Given the description of an element on the screen output the (x, y) to click on. 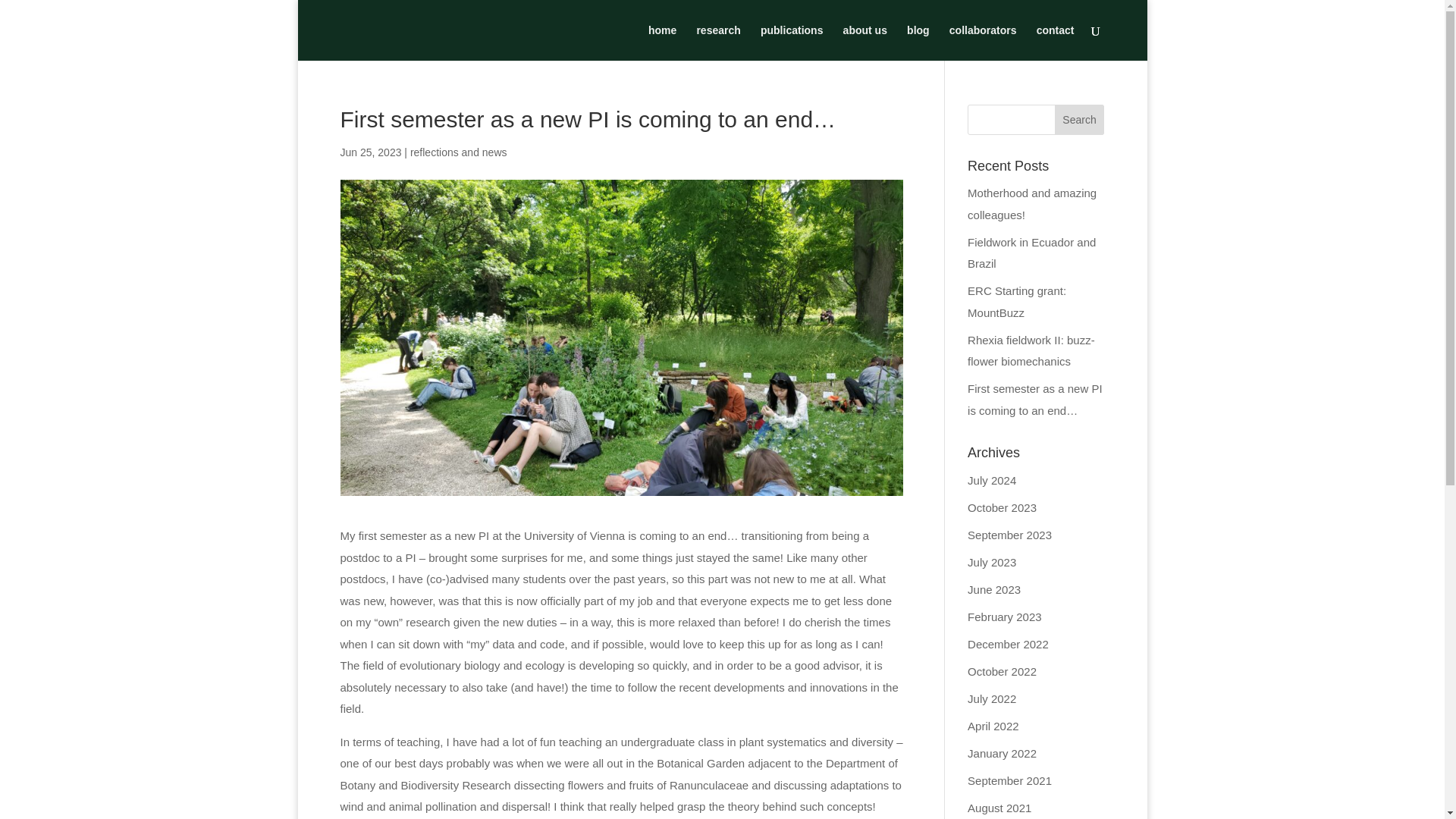
September 2021 (1009, 780)
April 2022 (993, 725)
collaborators (982, 42)
July 2024 (992, 480)
research (717, 42)
about us (864, 42)
Search (1079, 119)
reflections and news (458, 152)
June 2023 (994, 589)
February 2023 (1005, 616)
Rhexia fieldwork II: buzz-flower biomechanics (1031, 350)
July 2023 (992, 562)
Motherhood and amazing colleagues! (1032, 203)
July 2022 (992, 698)
Search (1079, 119)
